Given the description of an element on the screen output the (x, y) to click on. 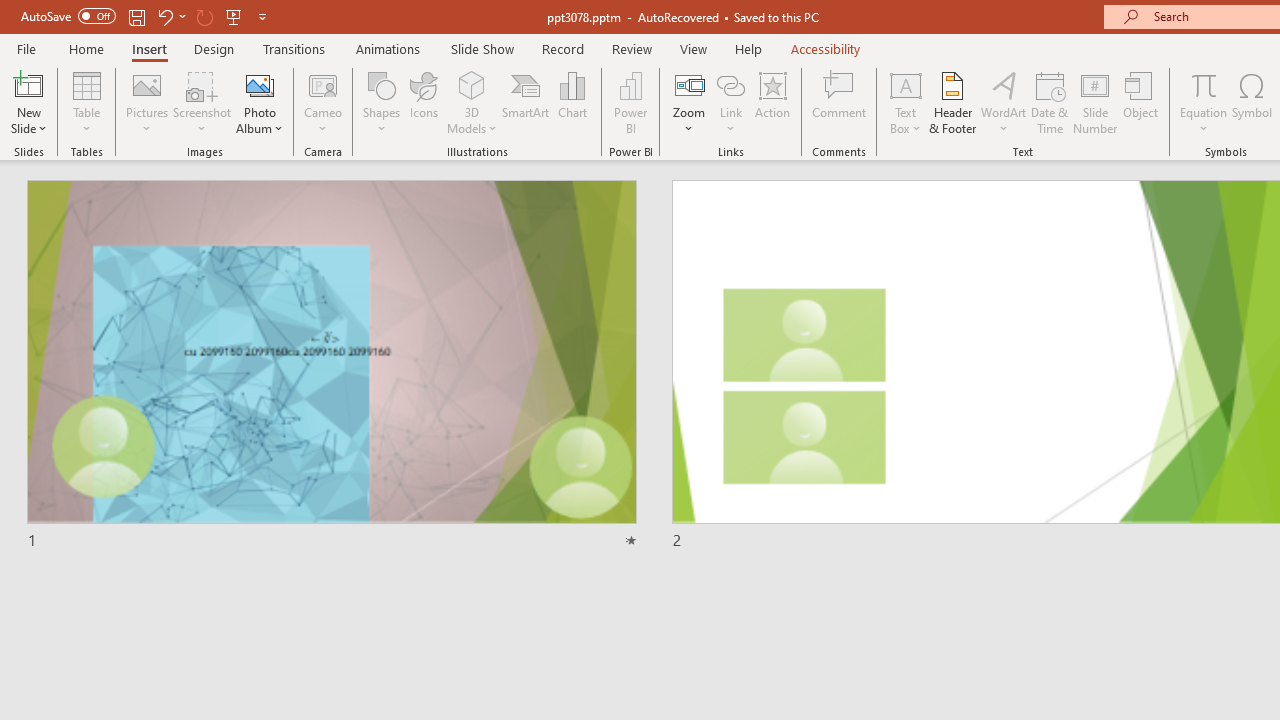
Date & Time... (1050, 102)
Pictures (147, 102)
Equation (1203, 102)
Link (731, 84)
Action (772, 102)
Icons (424, 102)
